Given the description of an element on the screen output the (x, y) to click on. 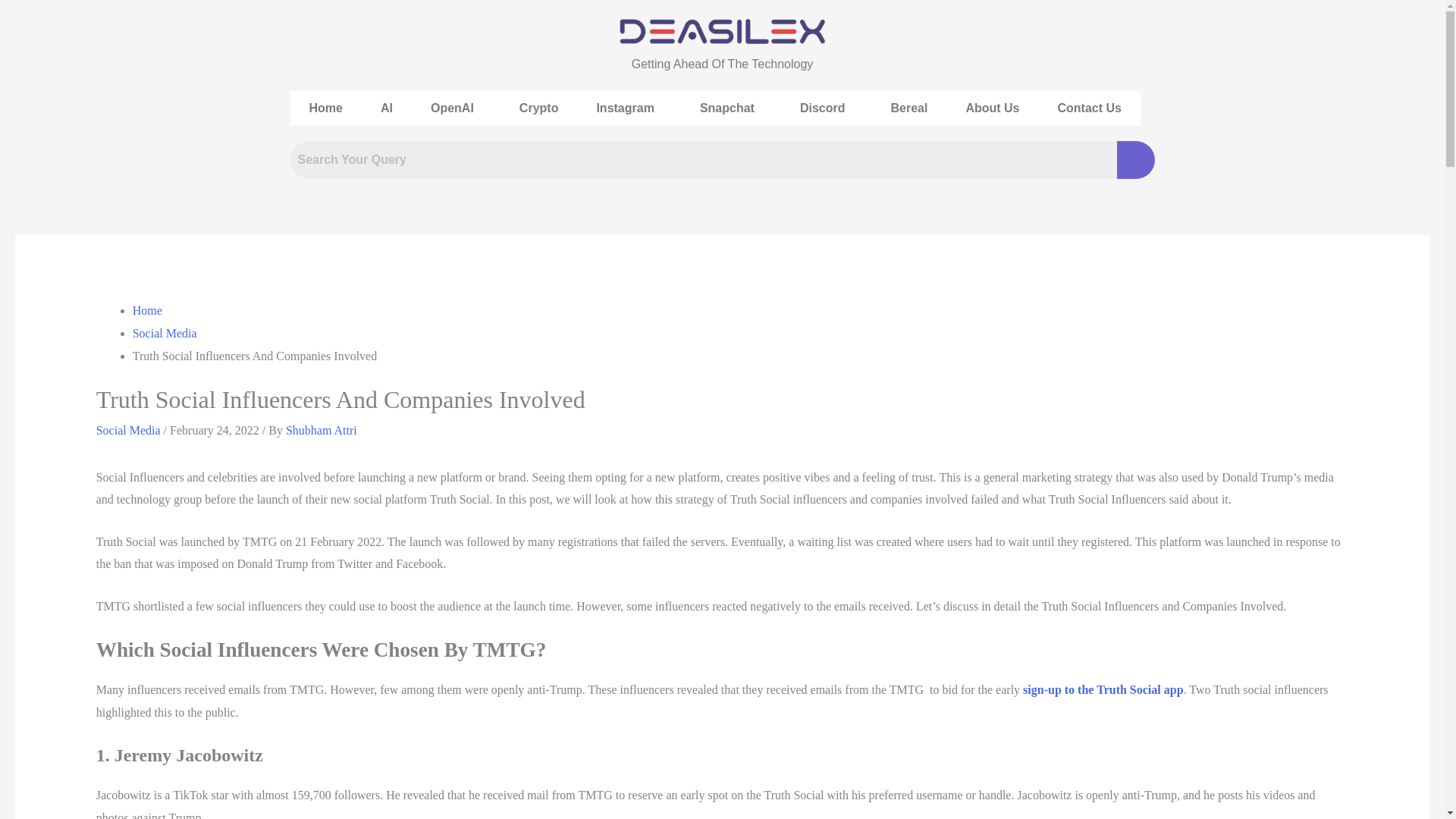
OpenAI (456, 108)
About Us (992, 108)
AI (386, 108)
Crypto (539, 108)
Instagram (627, 108)
Snapchat (730, 108)
Bereal (908, 108)
Home (325, 108)
Search (702, 159)
View all posts by Shubham Attri (320, 430)
